Given the description of an element on the screen output the (x, y) to click on. 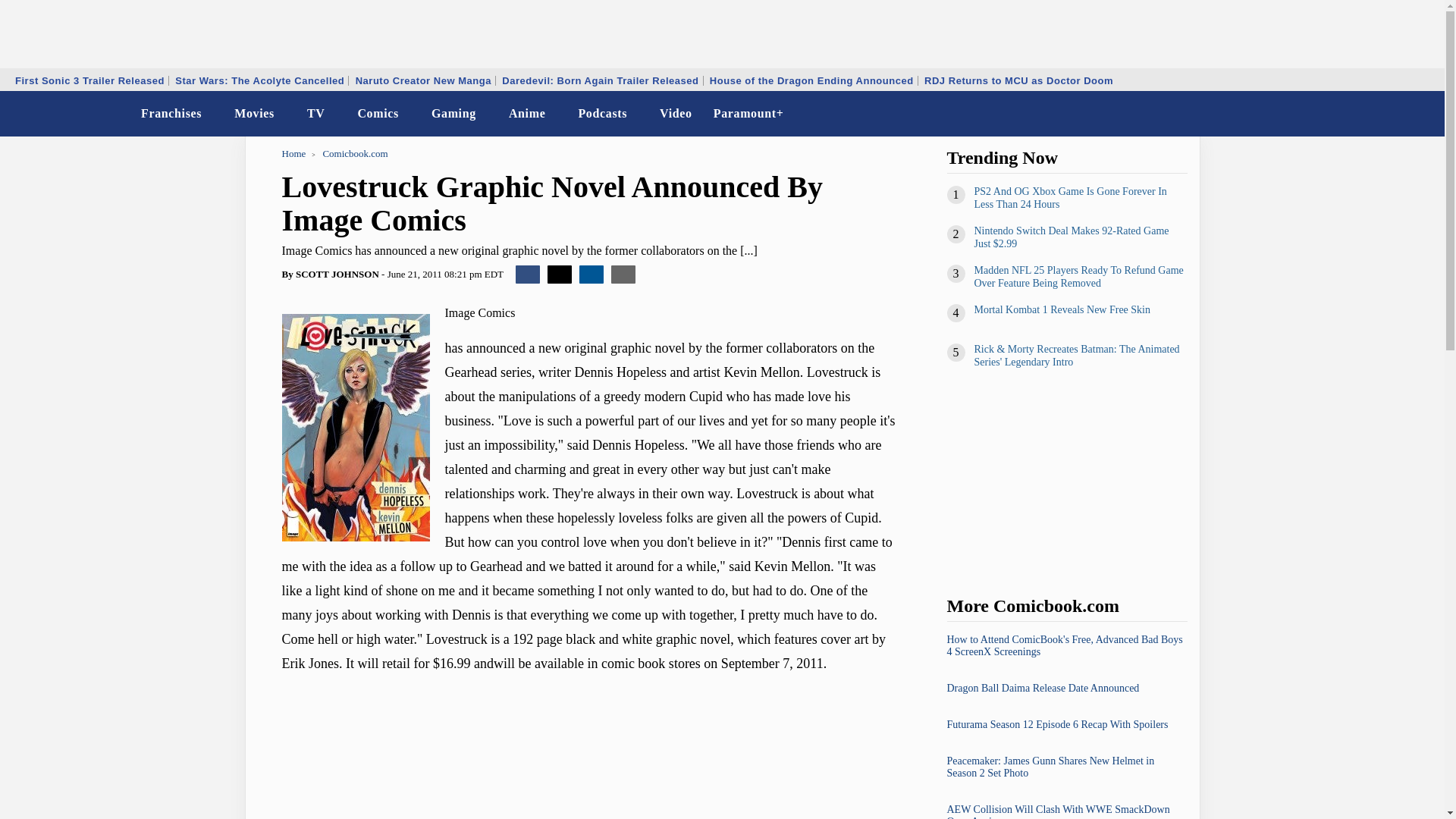
Daredevil: Born Again Trailer Released (599, 80)
Search (1422, 114)
RDJ Returns to MCU as Doctor Doom (1018, 80)
First Sonic 3 Trailer Released (89, 80)
Movies (254, 113)
Dark Mode (1394, 113)
Comics (377, 113)
Star Wars: The Acolyte Cancelled (259, 80)
Naruto Creator New Manga (423, 80)
House of the Dragon Ending Announced (811, 80)
